Given the description of an element on the screen output the (x, y) to click on. 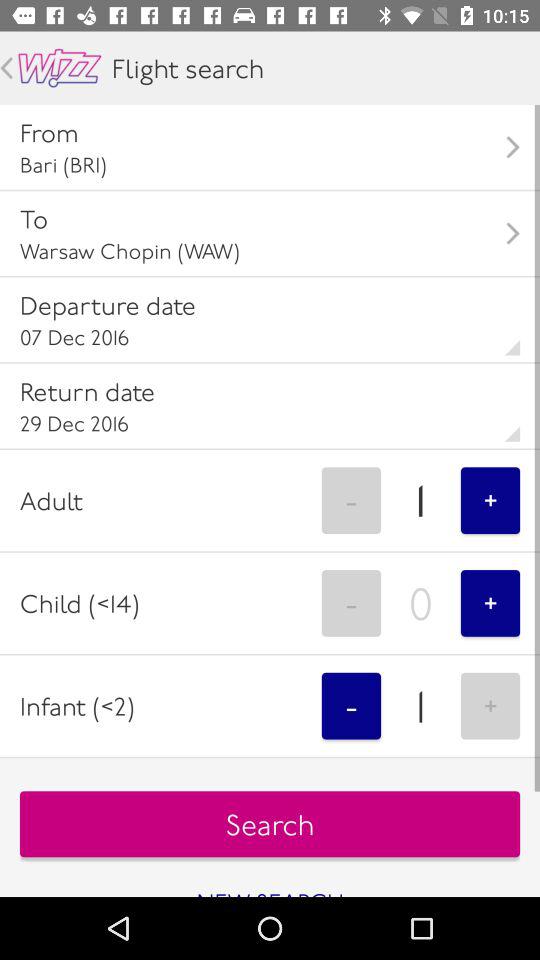
go to home page (59, 68)
